Given the description of an element on the screen output the (x, y) to click on. 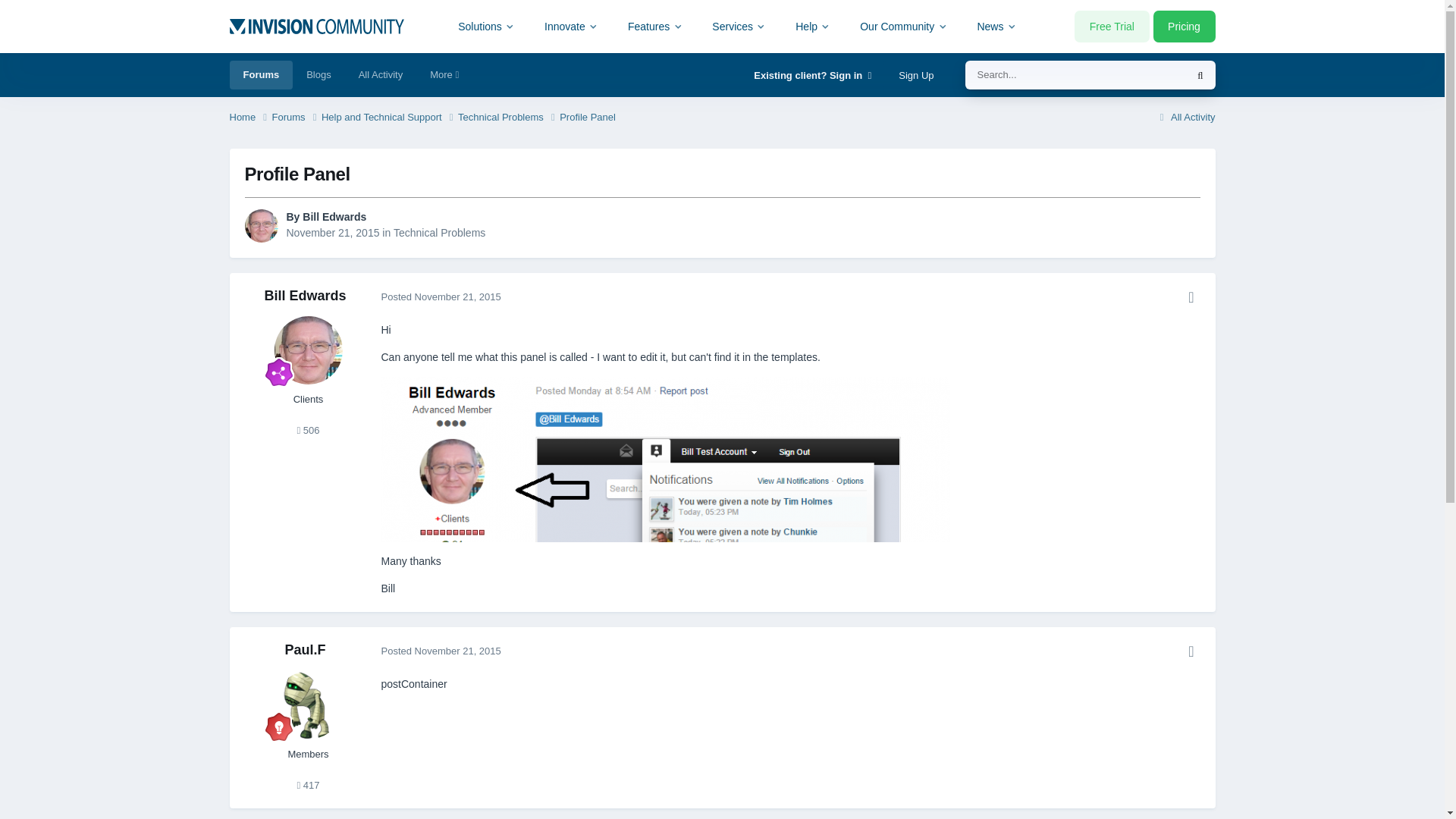
Innovate (570, 26)
Help (812, 26)
Home (249, 117)
Features (654, 26)
Services (738, 26)
Solutions (486, 26)
